Given the description of an element on the screen output the (x, y) to click on. 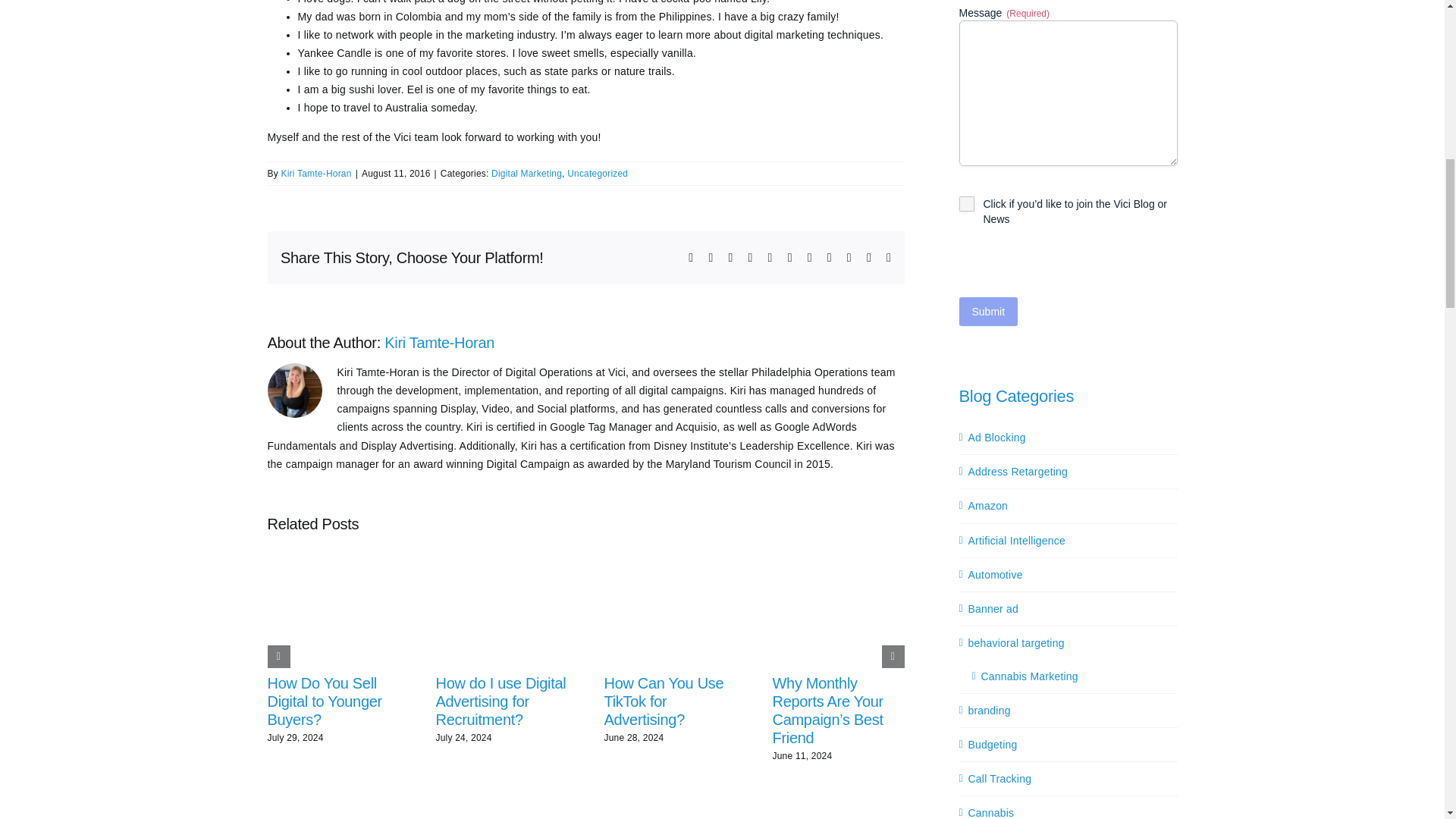
Submit (987, 311)
Posts by Kiri Tamte-Horan (315, 173)
